Given the description of an element on the screen output the (x, y) to click on. 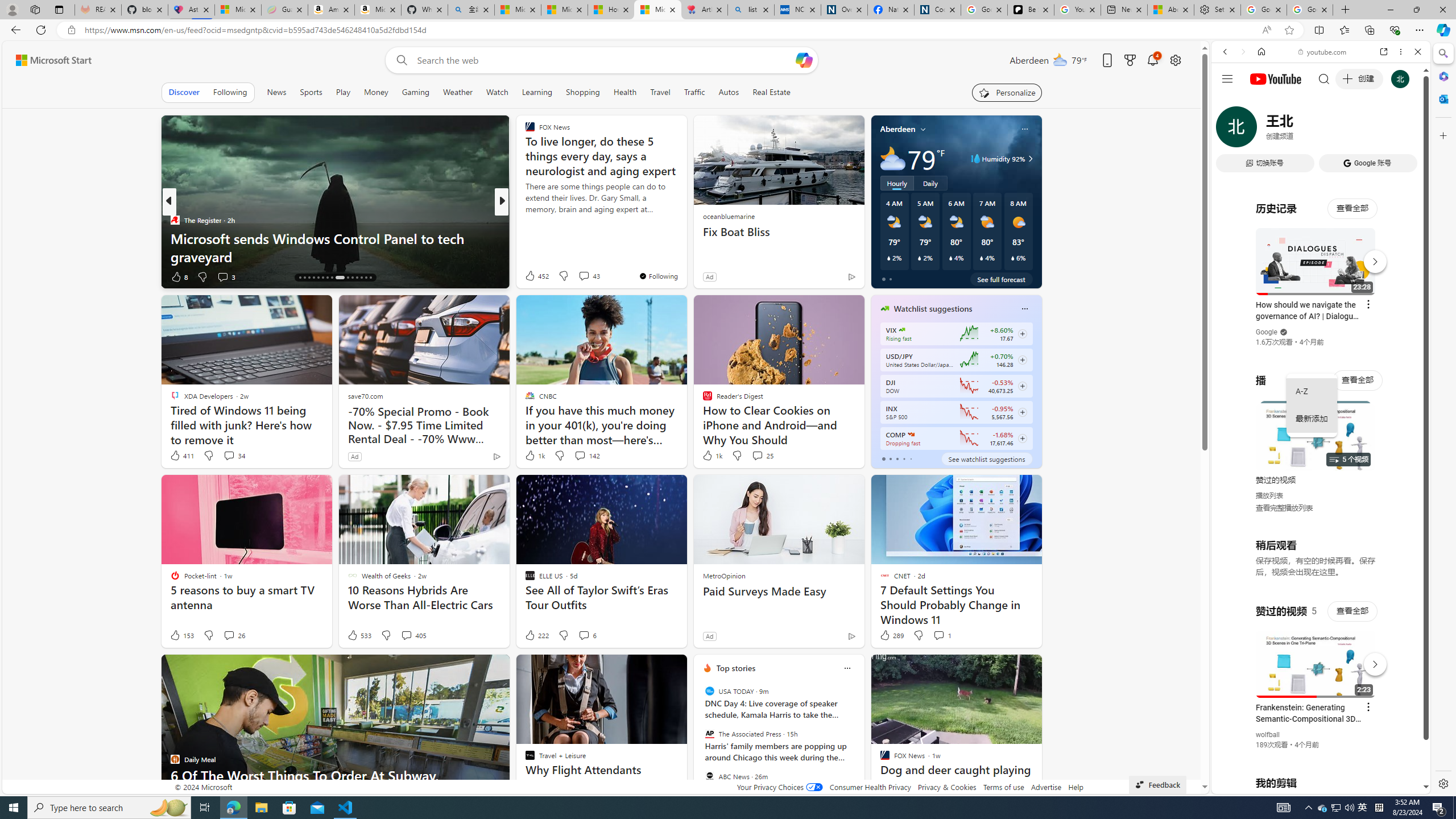
FOX News (524, 219)
10 Things Scientists Can't Explain and Attribute to God (684, 247)
Hourly (896, 183)
Autos (729, 92)
Real Estate (771, 92)
View comments 405 Comment (406, 635)
Music (1320, 309)
